Given the description of an element on the screen output the (x, y) to click on. 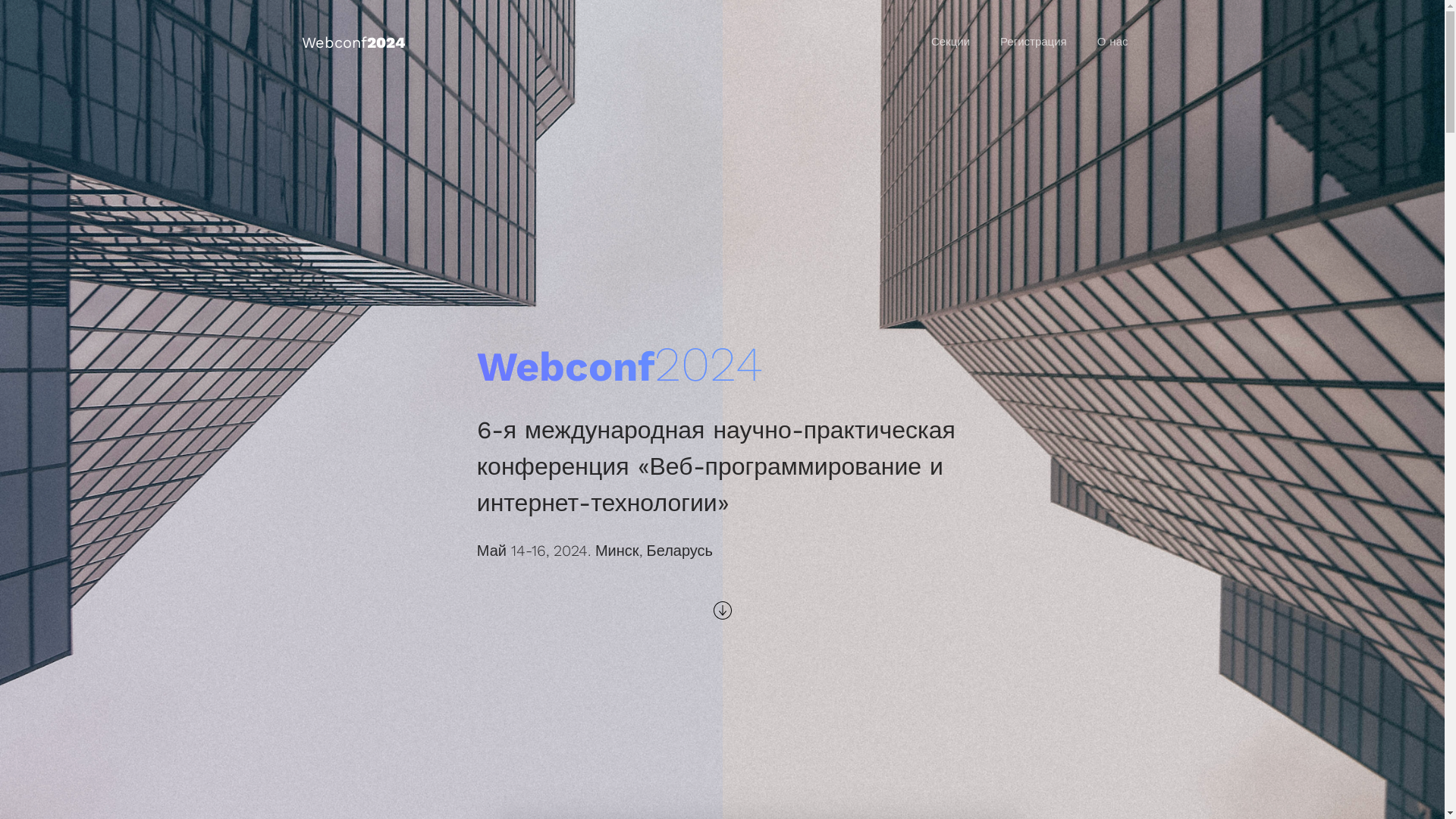
Webconf2024 Element type: text (352, 42)
